Given the description of an element on the screen output the (x, y) to click on. 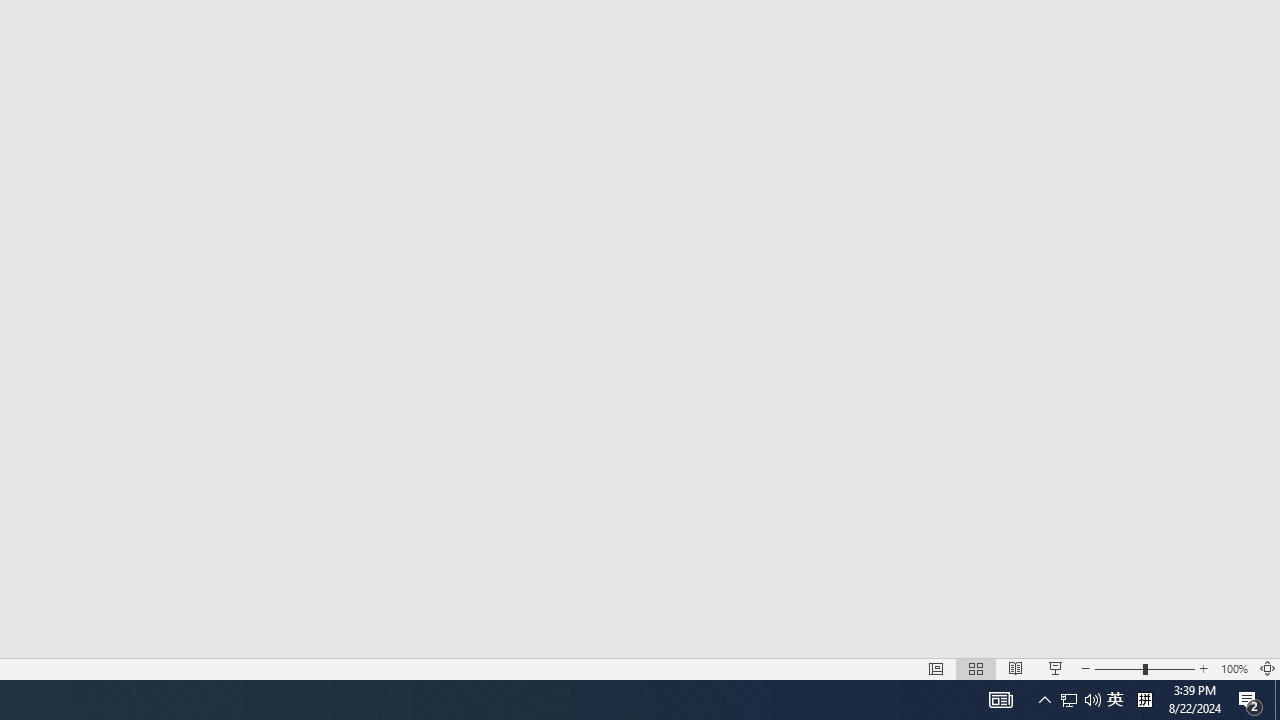
Zoom 100% (1234, 668)
